Given the description of an element on the screen output the (x, y) to click on. 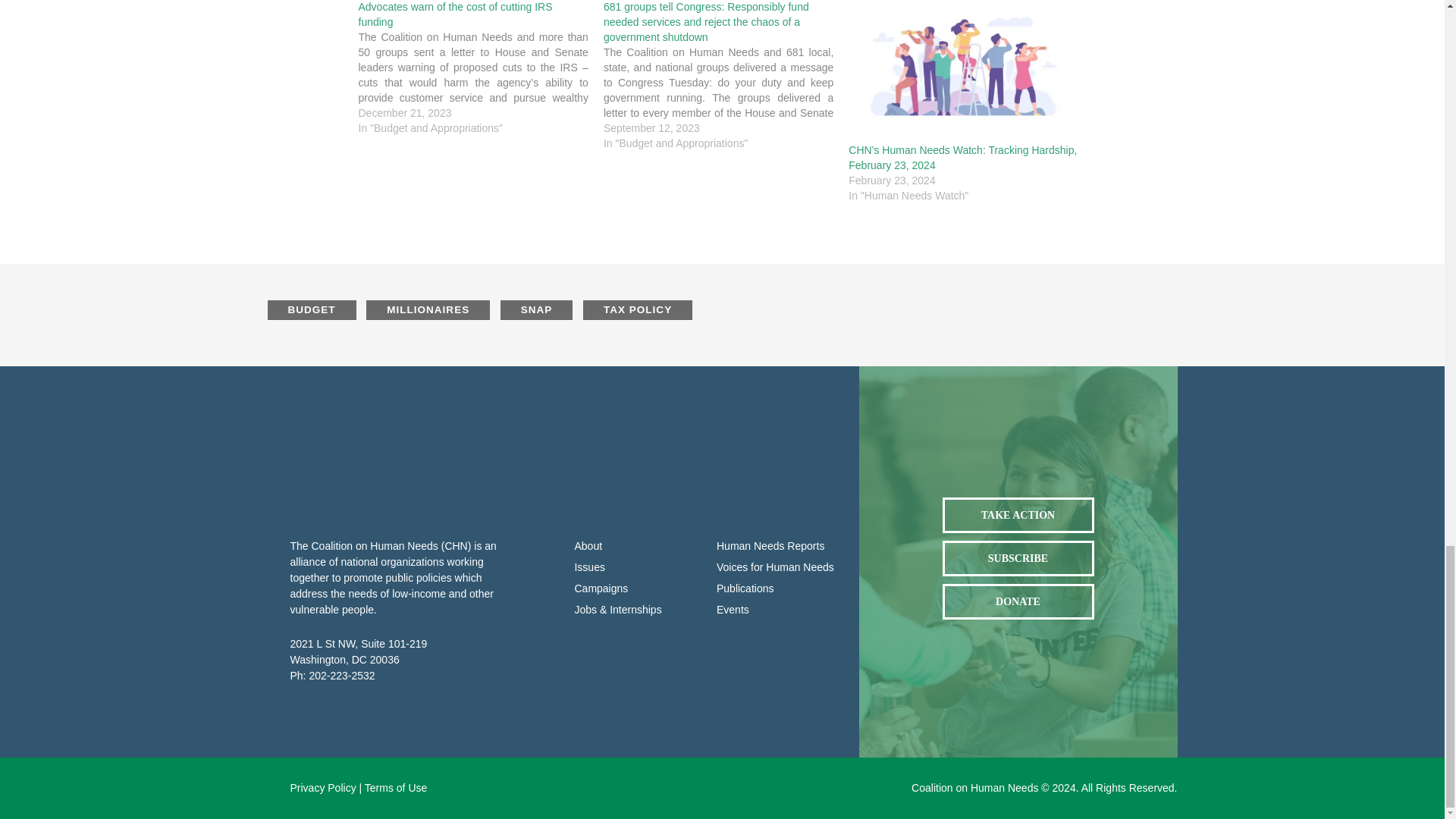
Campaigns (633, 588)
About (633, 546)
Issues (633, 567)
Advocates warn of the cost of cutting IRS funding  (454, 13)
